Given the description of an element on the screen output the (x, y) to click on. 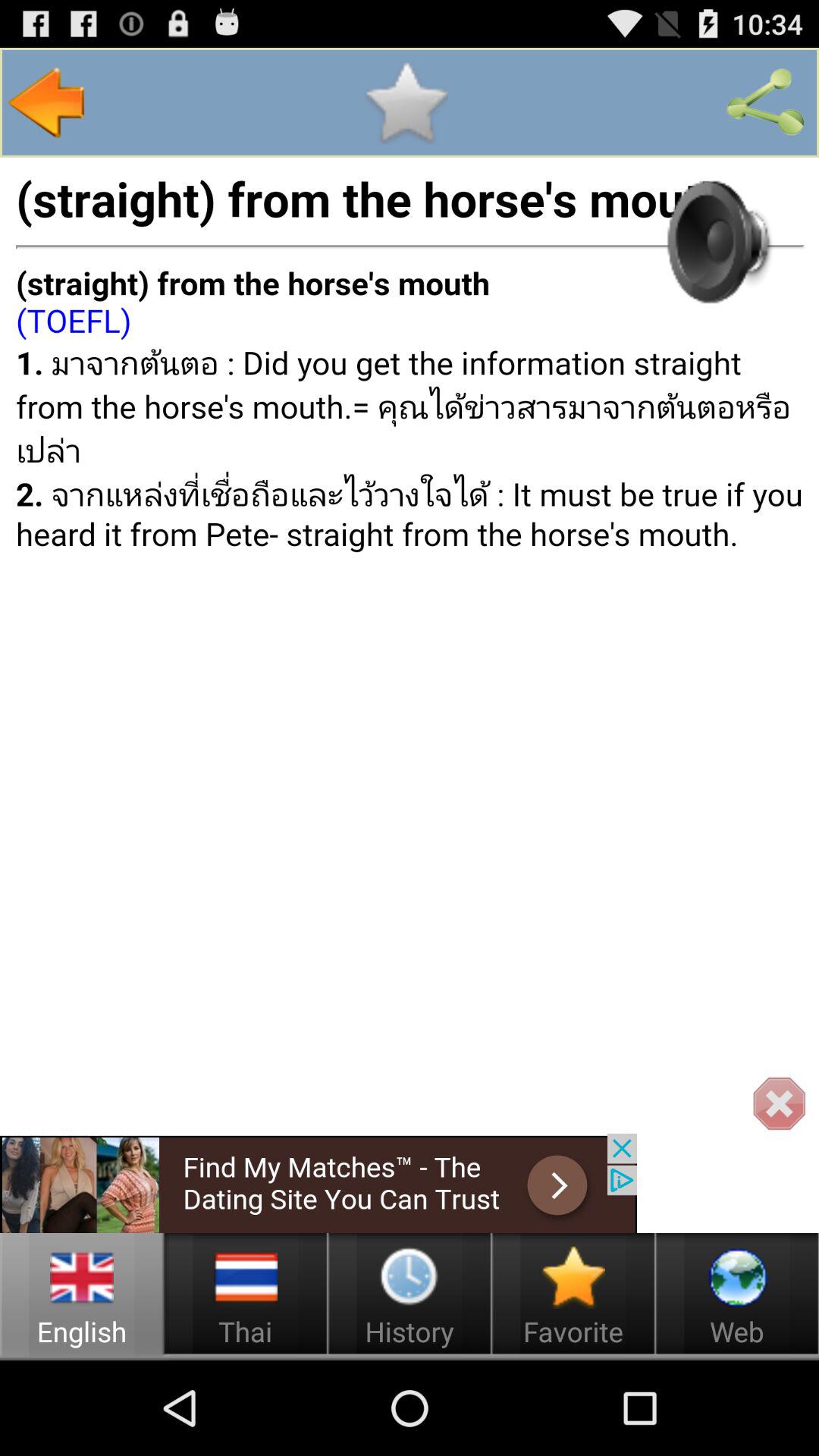
sound on (715, 240)
